Given the description of an element on the screen output the (x, y) to click on. 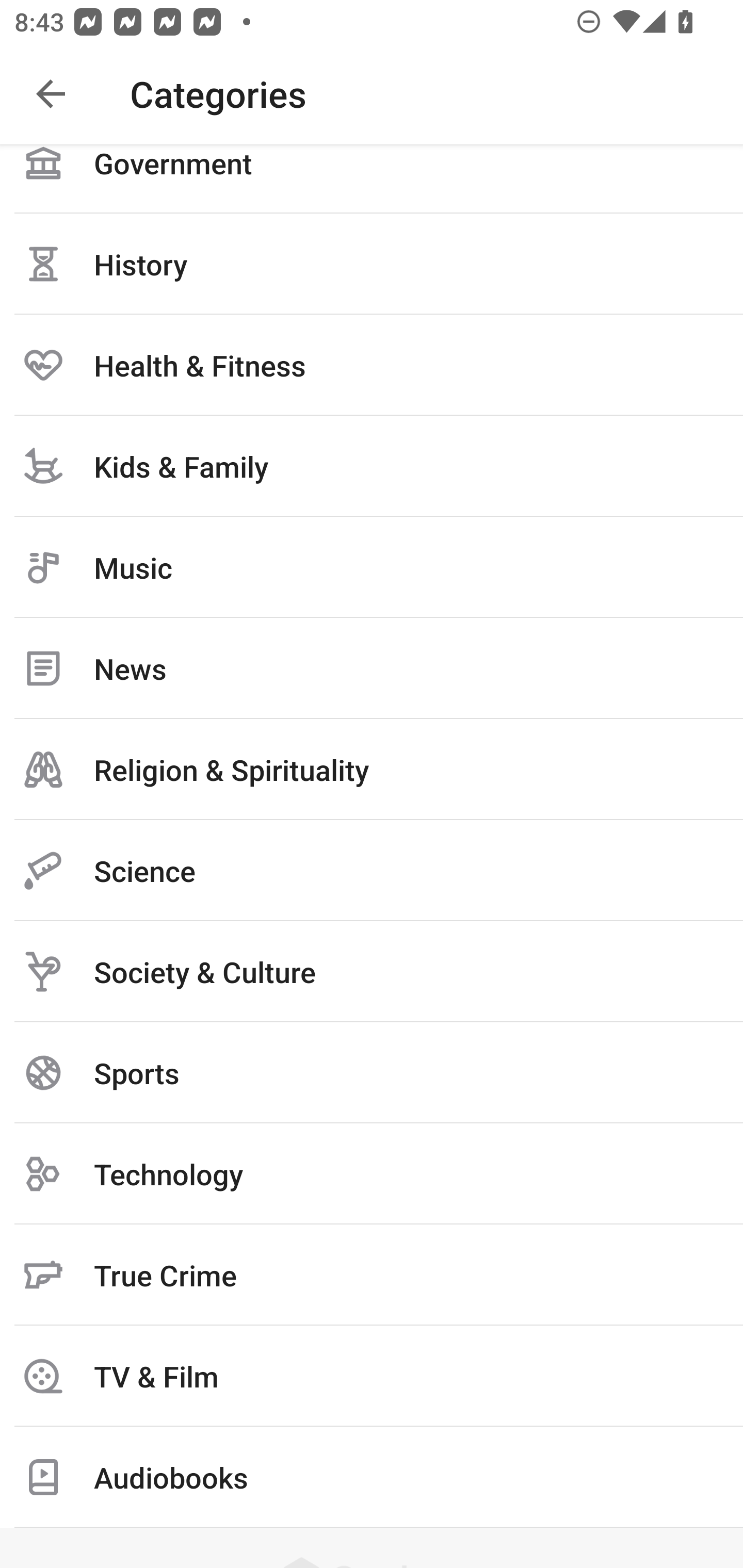
Navigate up (50, 93)
Government (371, 178)
History (371, 264)
Health & Fitness (371, 365)
Kids & Family (371, 466)
Music (371, 567)
News (371, 668)
Religion & Spirituality (371, 769)
Science (371, 870)
Society & Culture (371, 971)
Sports (371, 1072)
Technology (371, 1173)
True Crime (371, 1274)
TV & Film (371, 1375)
Audiobooks (371, 1476)
